Given the description of an element on the screen output the (x, y) to click on. 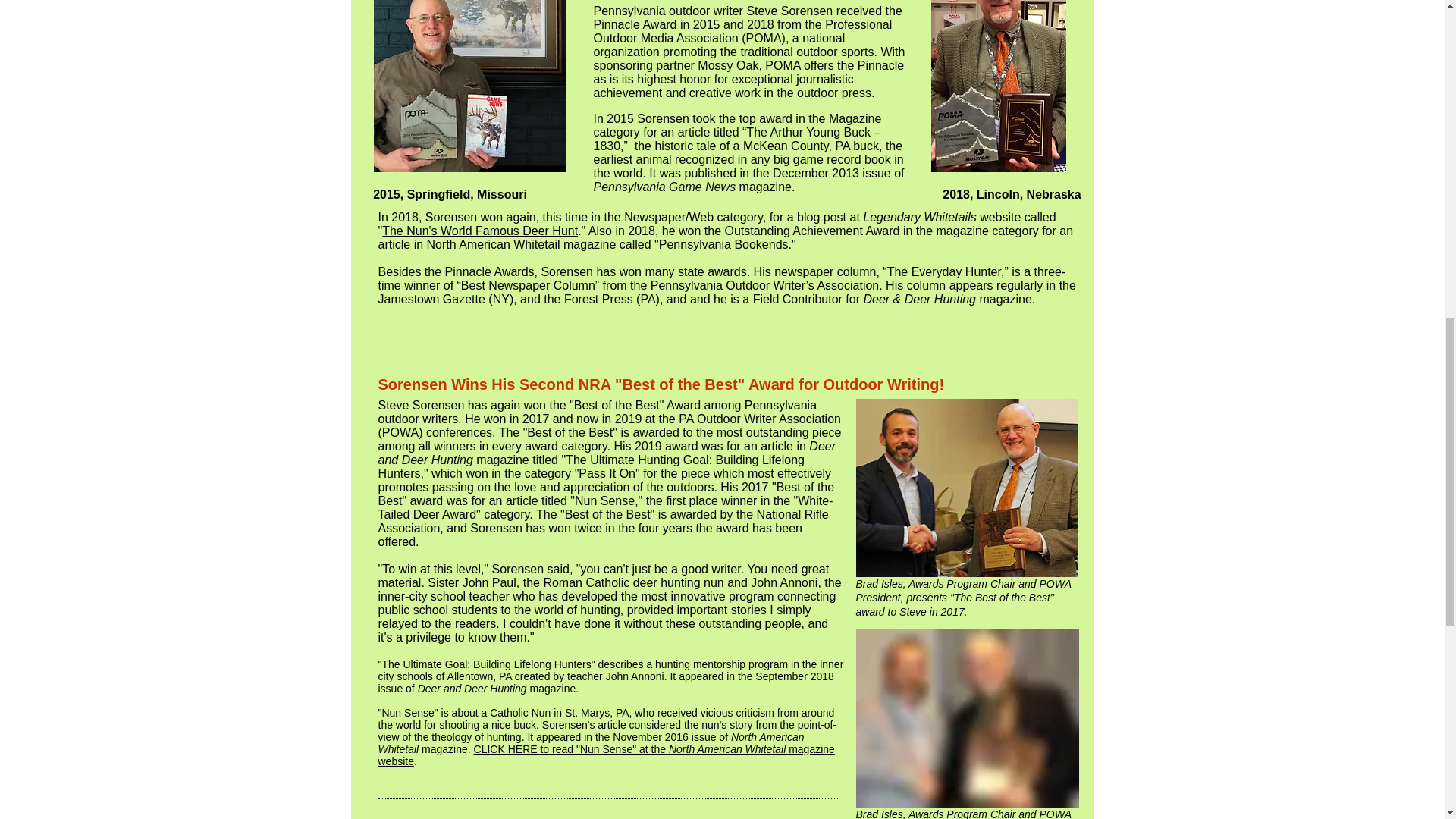
The Nun's World Famous Deer Hunt (479, 230)
Pinnacle Award in 2015 and 2018 (682, 24)
